Given the description of an element on the screen output the (x, y) to click on. 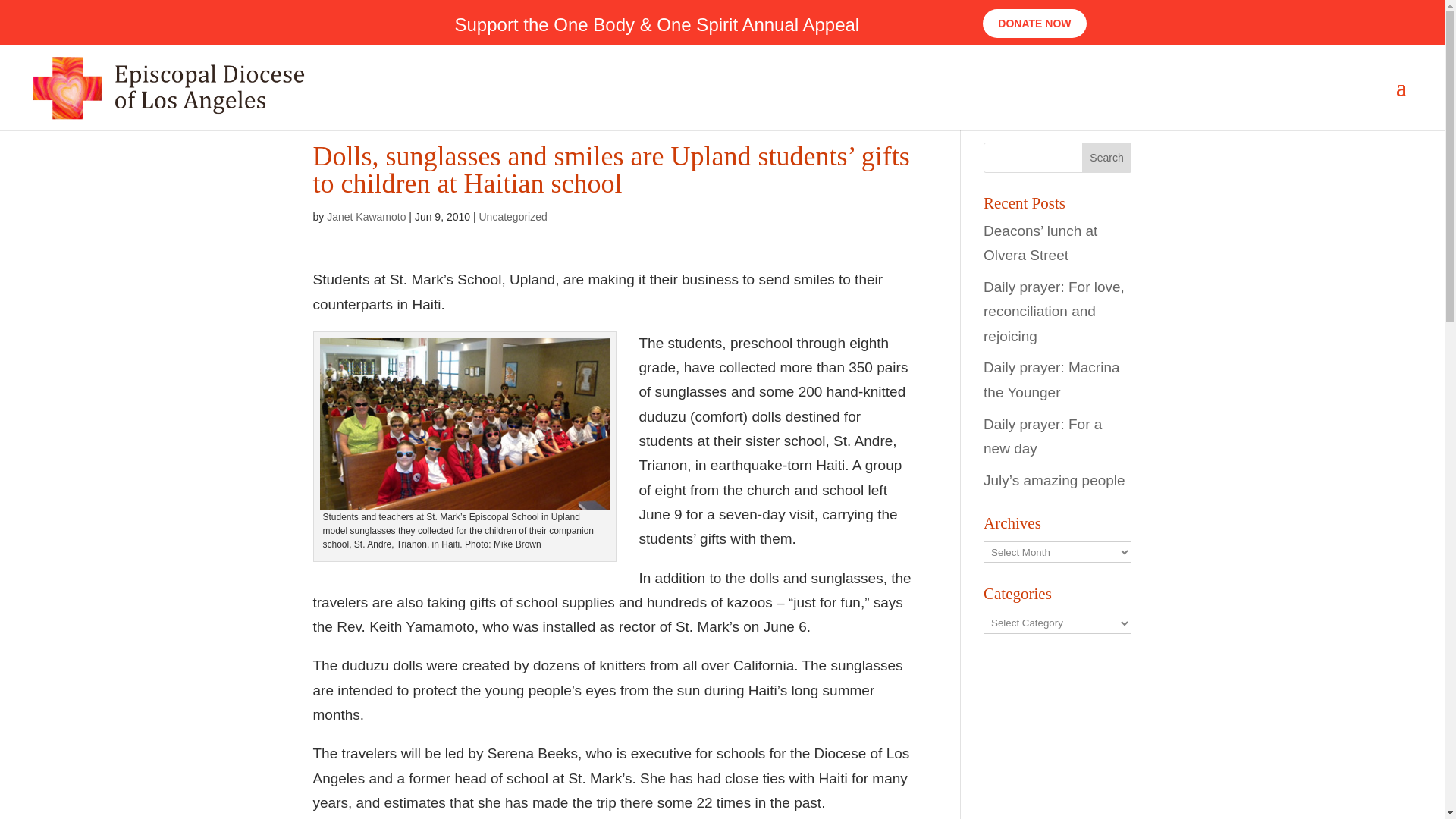
Search (1106, 157)
